Given the description of an element on the screen output the (x, y) to click on. 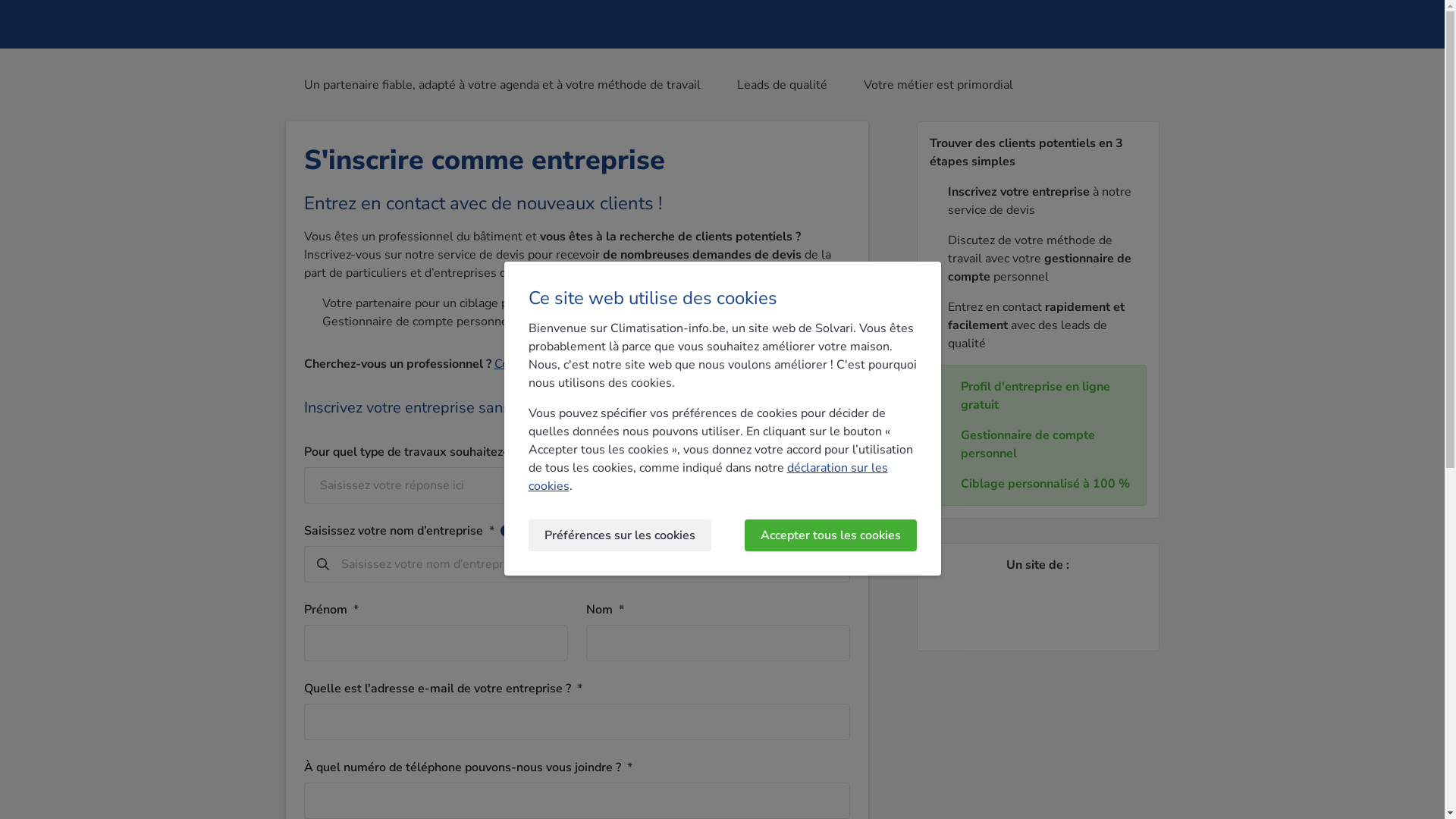
Accepter tous les cookies Element type: text (830, 535)
Comparez des devis Element type: text (548, 363)
